Given the description of an element on the screen output the (x, y) to click on. 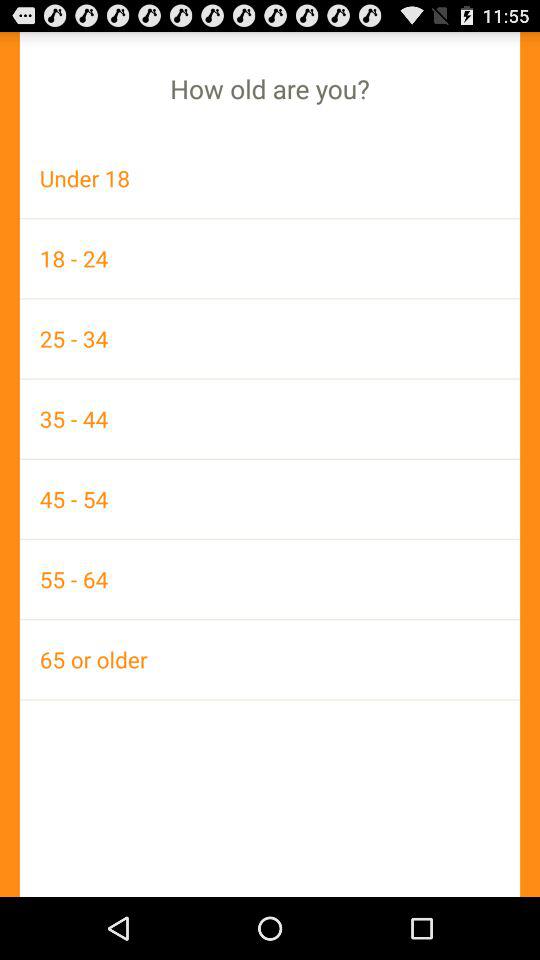
click item below 35 - 44 item (269, 498)
